Given the description of an element on the screen output the (x, y) to click on. 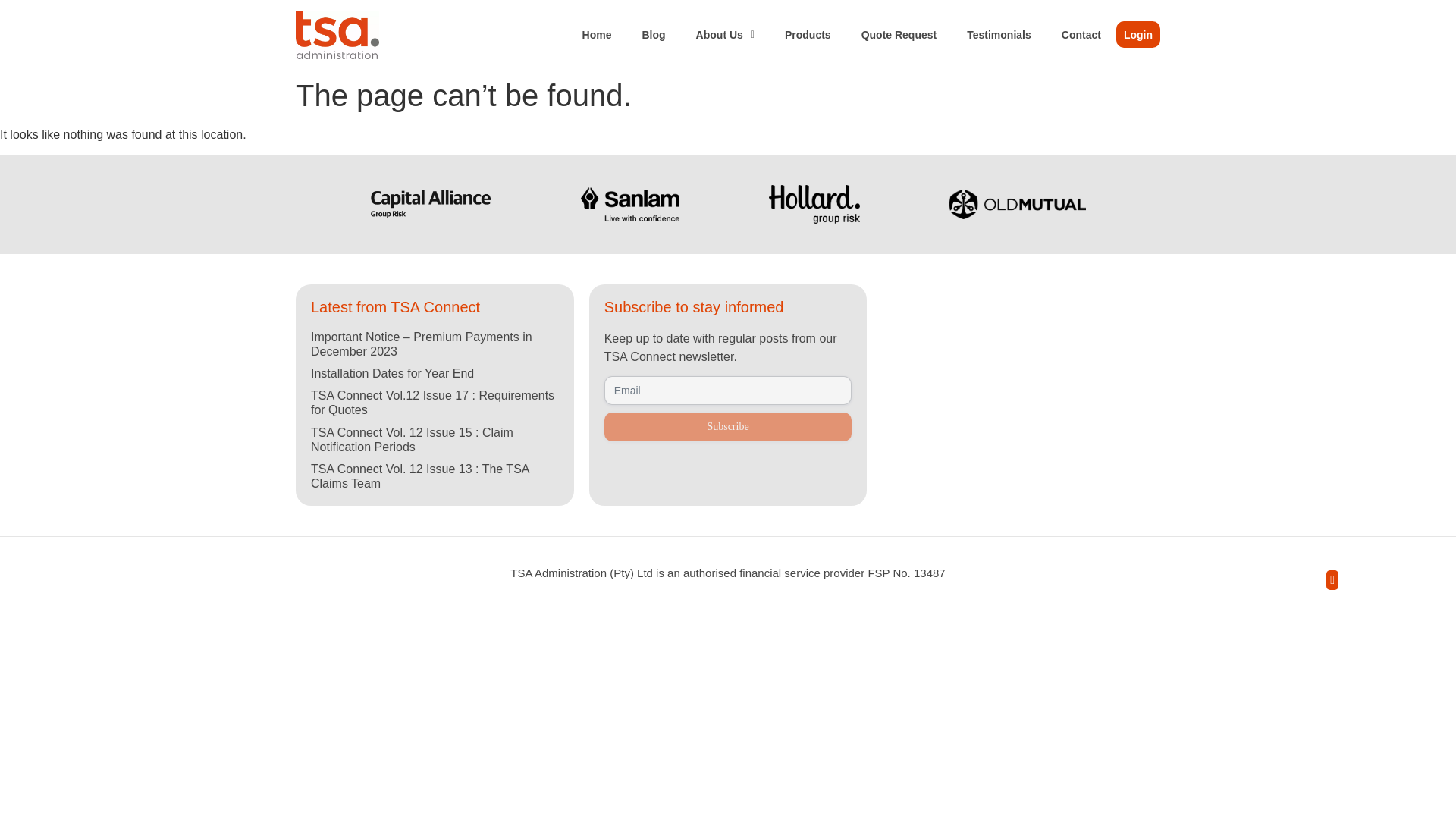
Contact (1081, 34)
Home (597, 34)
Testimonials (999, 34)
Blog (652, 34)
About Us (725, 34)
Products (807, 34)
Quote Request (898, 34)
Subscribe (727, 426)
Login (1138, 34)
